Given the description of an element on the screen output the (x, y) to click on. 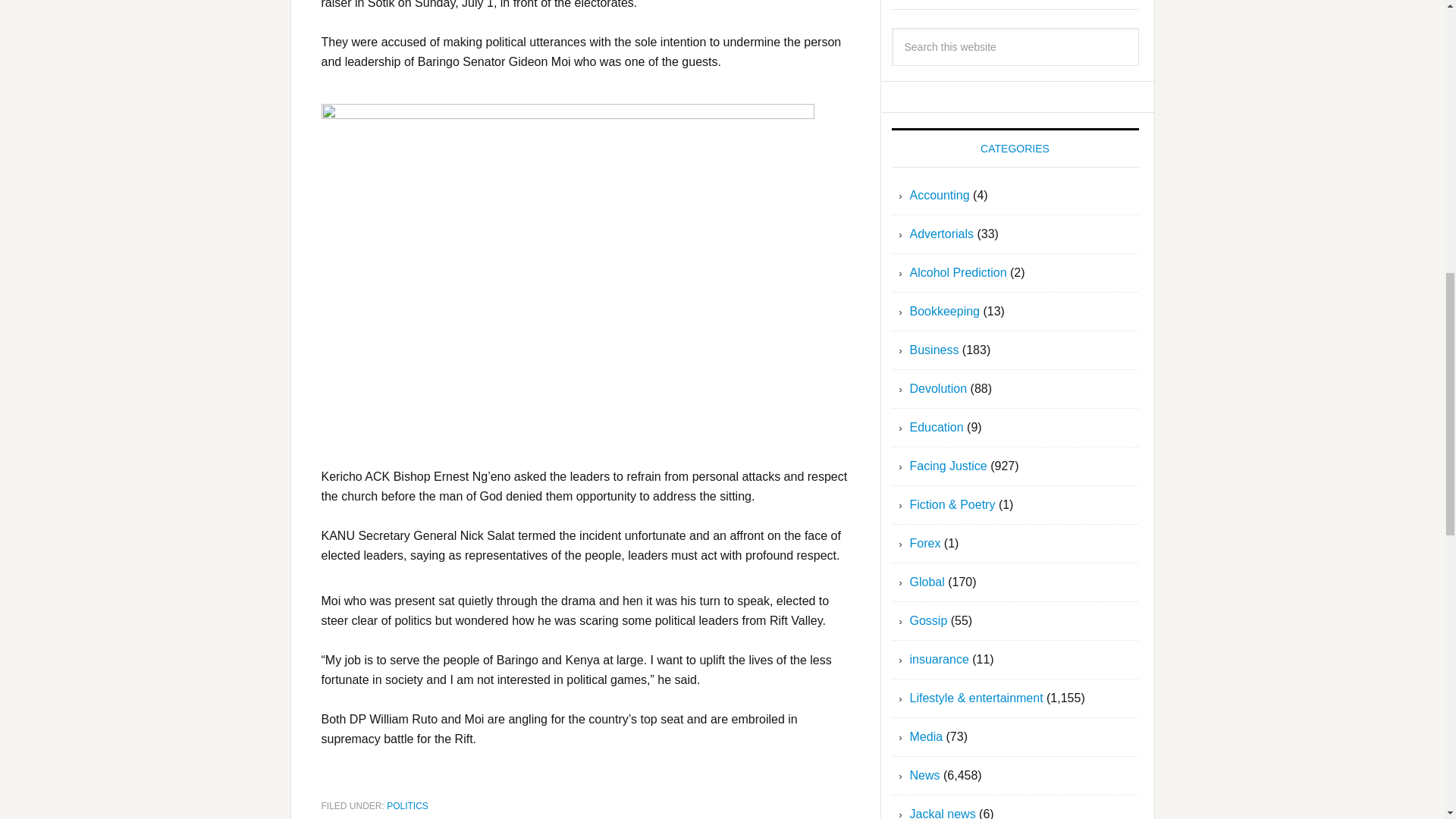
POLITICS (407, 805)
Bookkeeping (944, 310)
Devolution (939, 388)
Education (936, 427)
Forex (925, 543)
Business (934, 349)
Gossip (928, 620)
insuarance (939, 658)
